Given the description of an element on the screen output the (x, y) to click on. 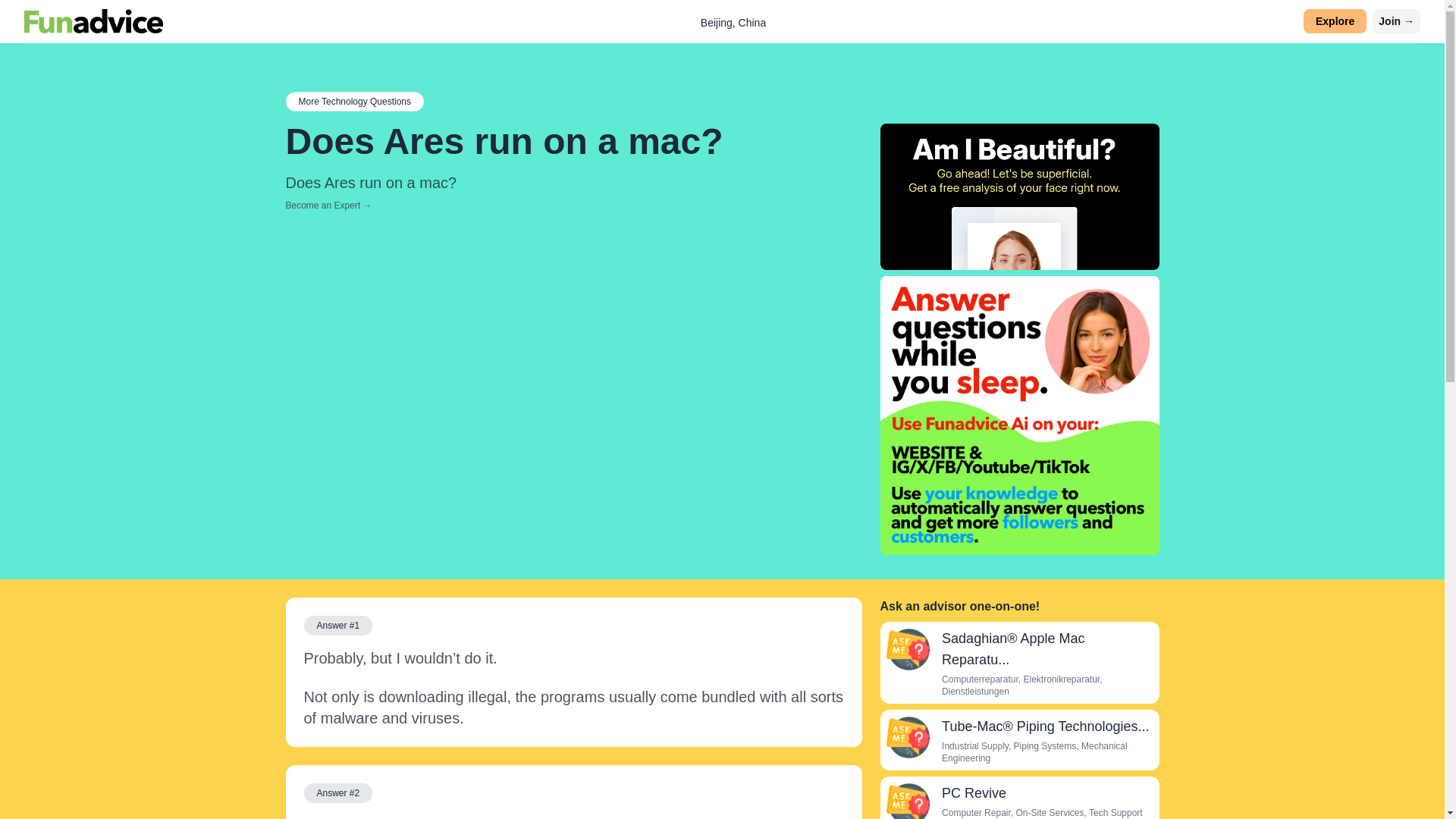
Beijing, China (732, 22)
PC Revive (974, 792)
More Technology Questions (354, 101)
Technology Questions (354, 101)
Funadvice Home (93, 21)
PC Revive (907, 800)
Explore (1335, 21)
